Given the description of an element on the screen output the (x, y) to click on. 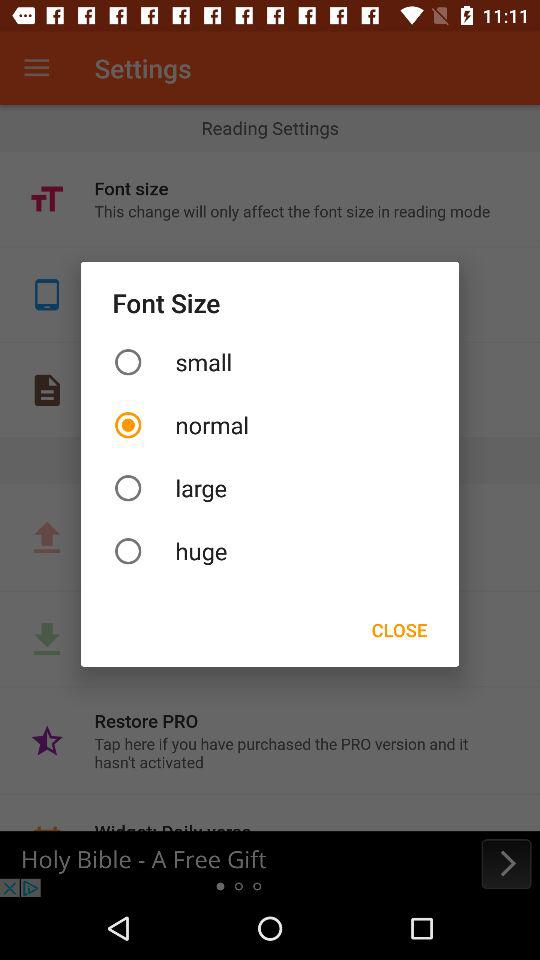
click the icon below small item (270, 424)
